Given the description of an element on the screen output the (x, y) to click on. 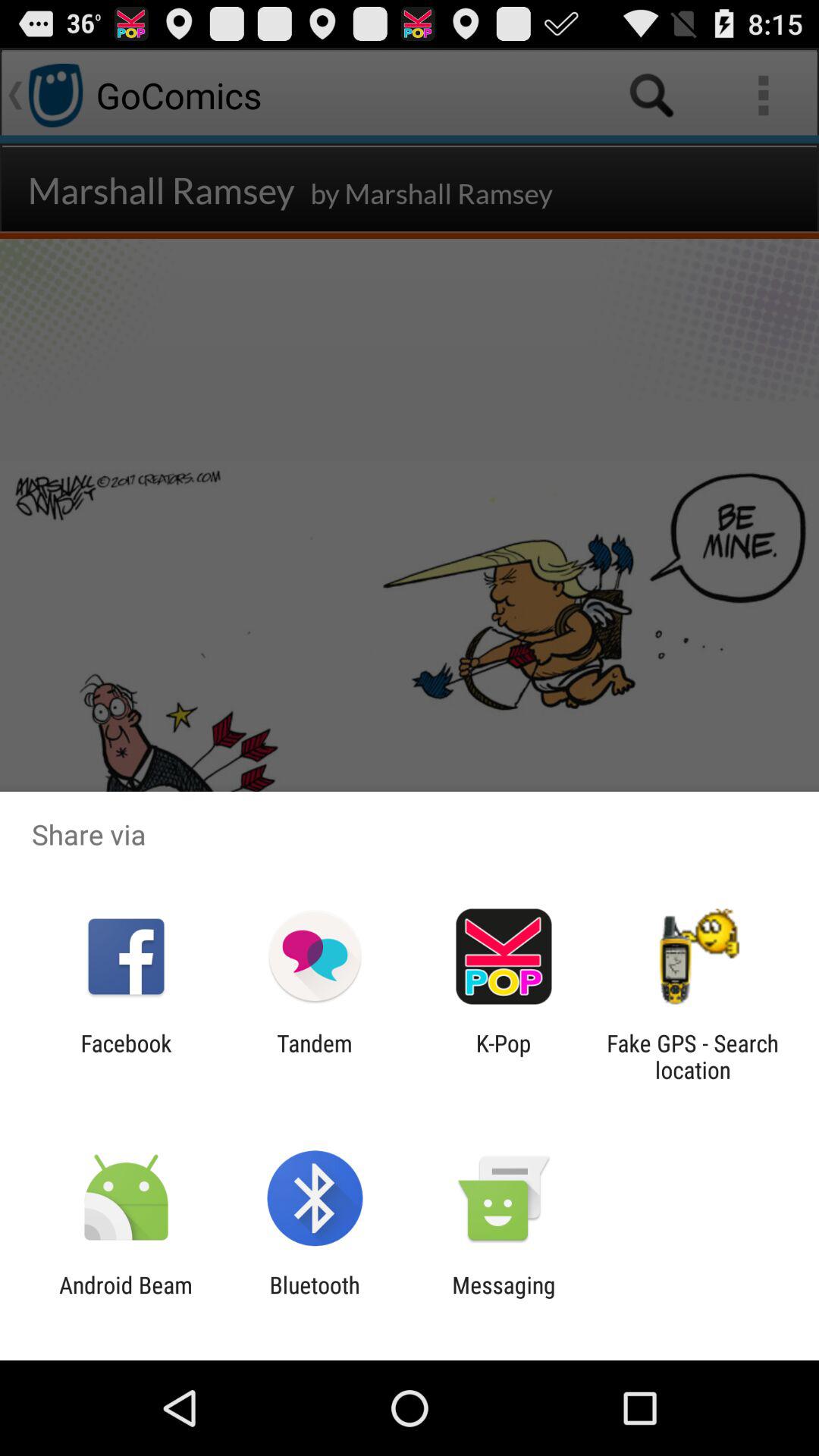
select bluetooth icon (314, 1298)
